Given the description of an element on the screen output the (x, y) to click on. 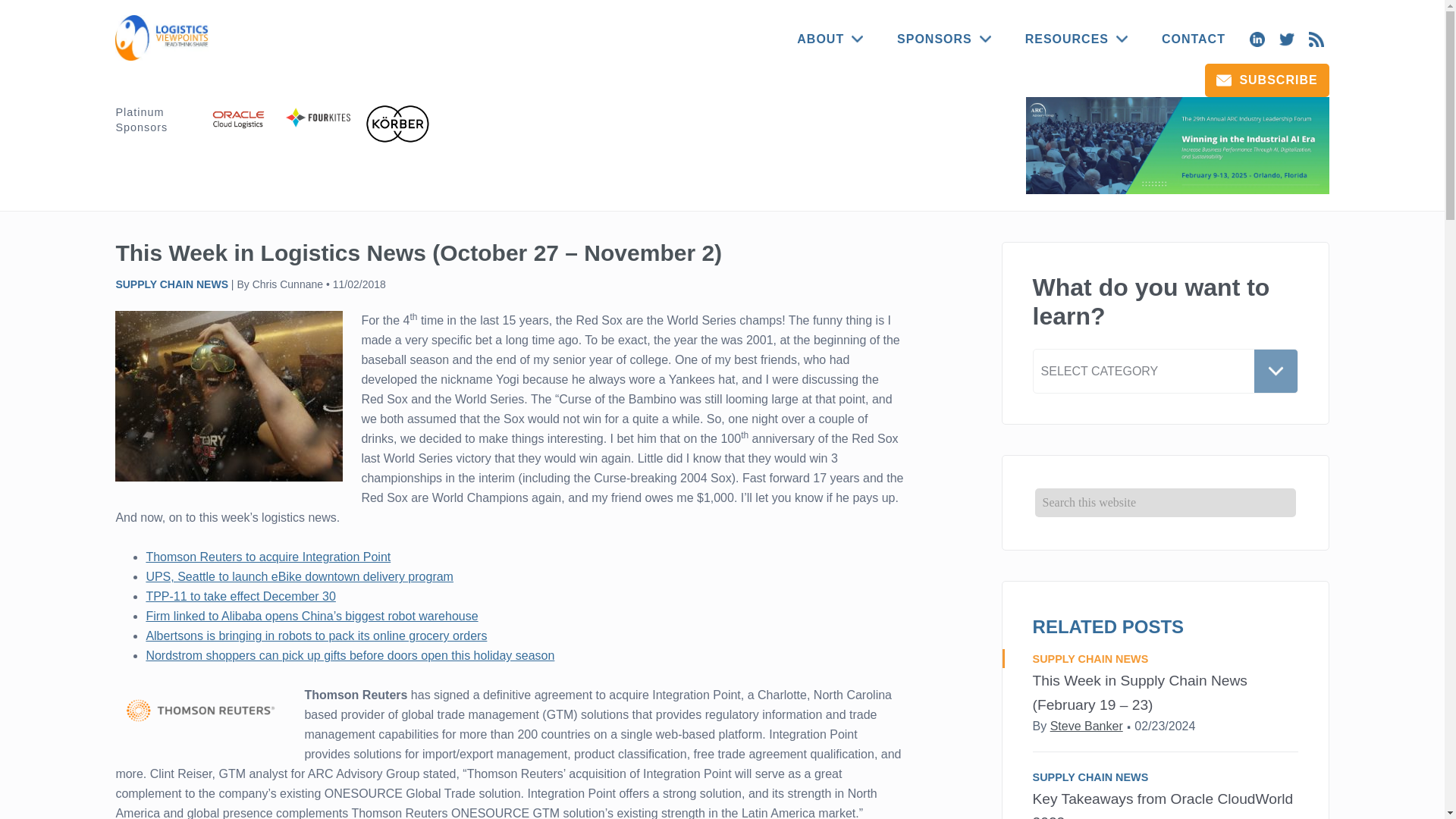
SUBSCRIBE (1266, 80)
logistics news (228, 396)
ABOUT (829, 39)
SPONSORS (944, 39)
CONTACT (1193, 39)
RESOURCES (1076, 39)
LOGISTICS VIEWPOINTS (164, 37)
